Given the description of an element on the screen output the (x, y) to click on. 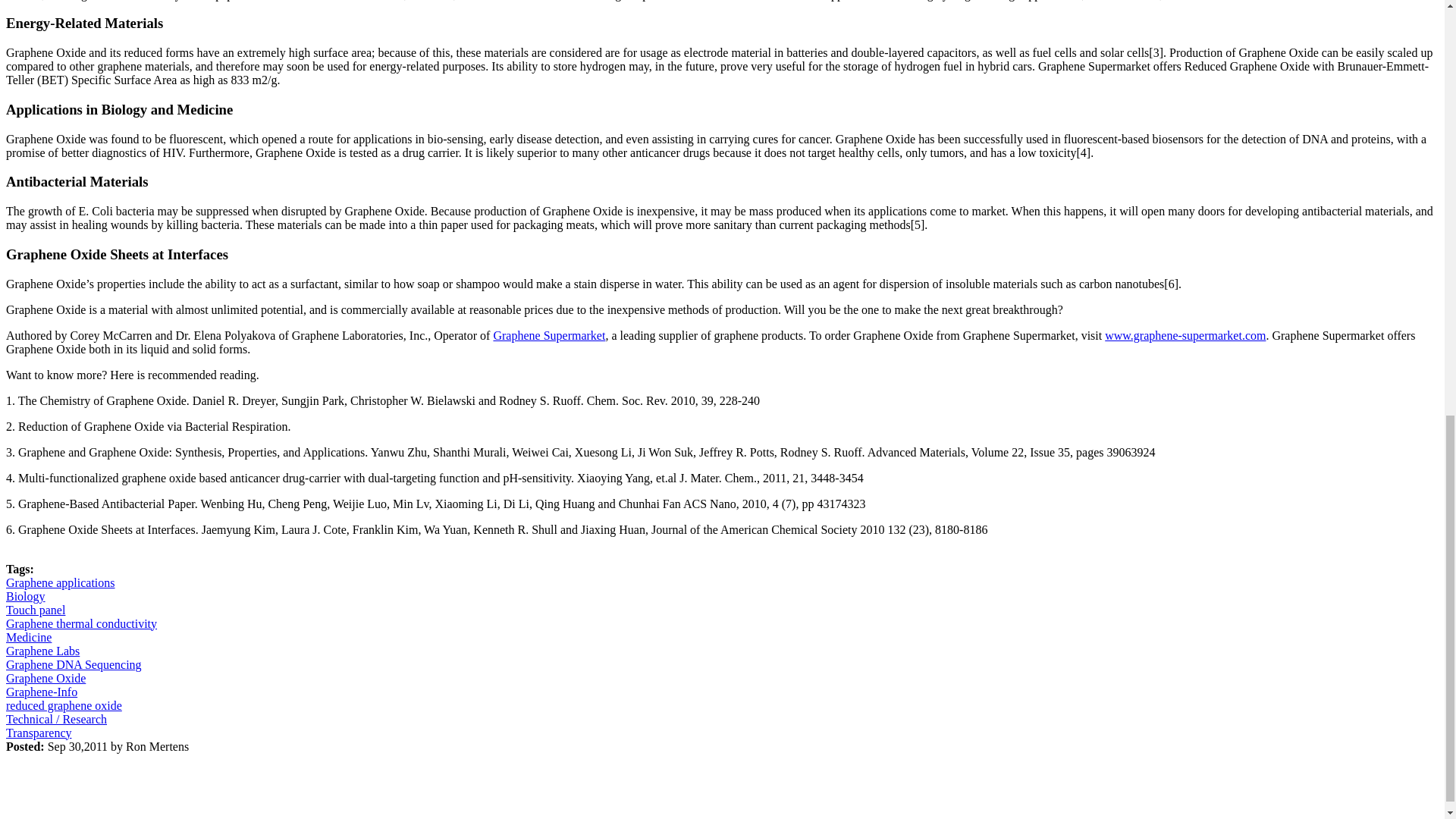
www.graphene-supermarket.com (1185, 334)
Graphene Labs (42, 649)
Medicine (27, 635)
Graphene thermal conductivity (81, 622)
Biology (25, 594)
Graphene applications (60, 581)
Graphene Oxide (45, 676)
Touch panel (35, 608)
Graphene-Info (41, 690)
reduced graphene oxide (63, 704)
Graphene DNA Sequencing (73, 663)
Graphene Supermarket (549, 334)
